Given the description of an element on the screen output the (x, y) to click on. 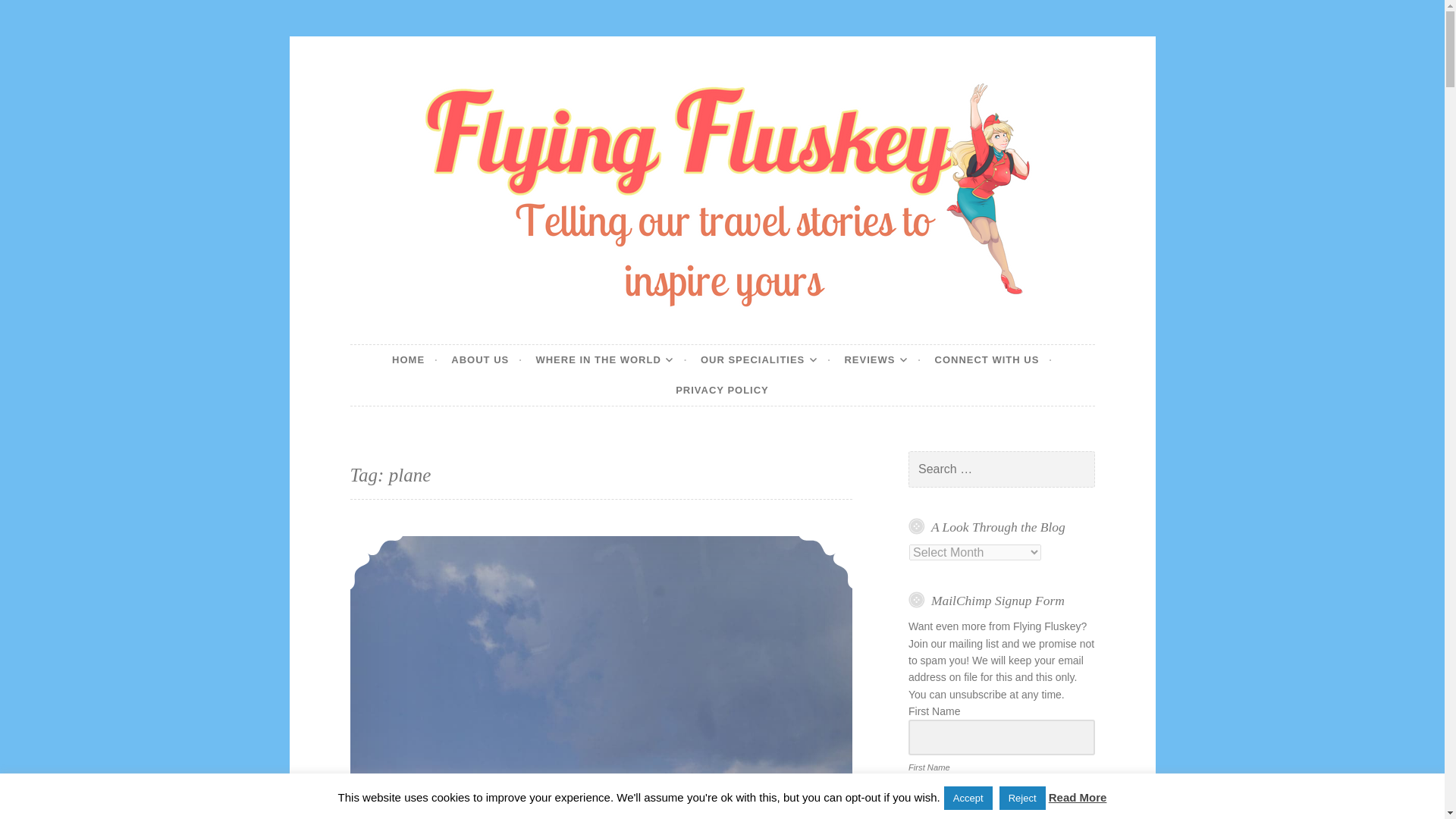
Flying Fluskey (465, 343)
WHERE IN THE WORLD (611, 359)
ABOUT US (486, 359)
HOME (414, 359)
